Given the description of an element on the screen output the (x, y) to click on. 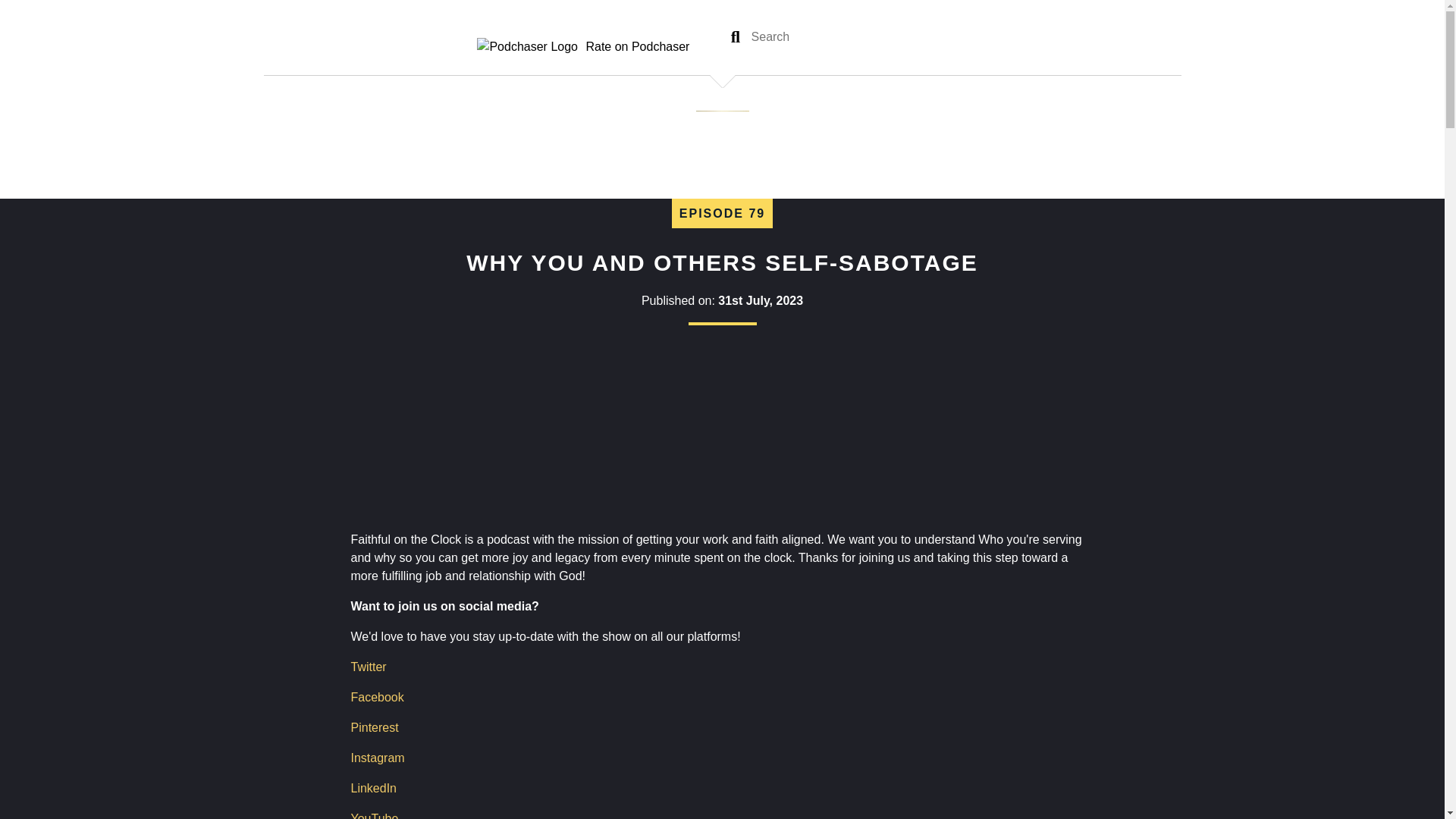
Rate on Podchaser (582, 46)
YouTube (373, 815)
Instagram (377, 757)
Twitter (367, 666)
Facebook (376, 697)
Pinterest (373, 727)
LinkedIn (373, 788)
